Given the description of an element on the screen output the (x, y) to click on. 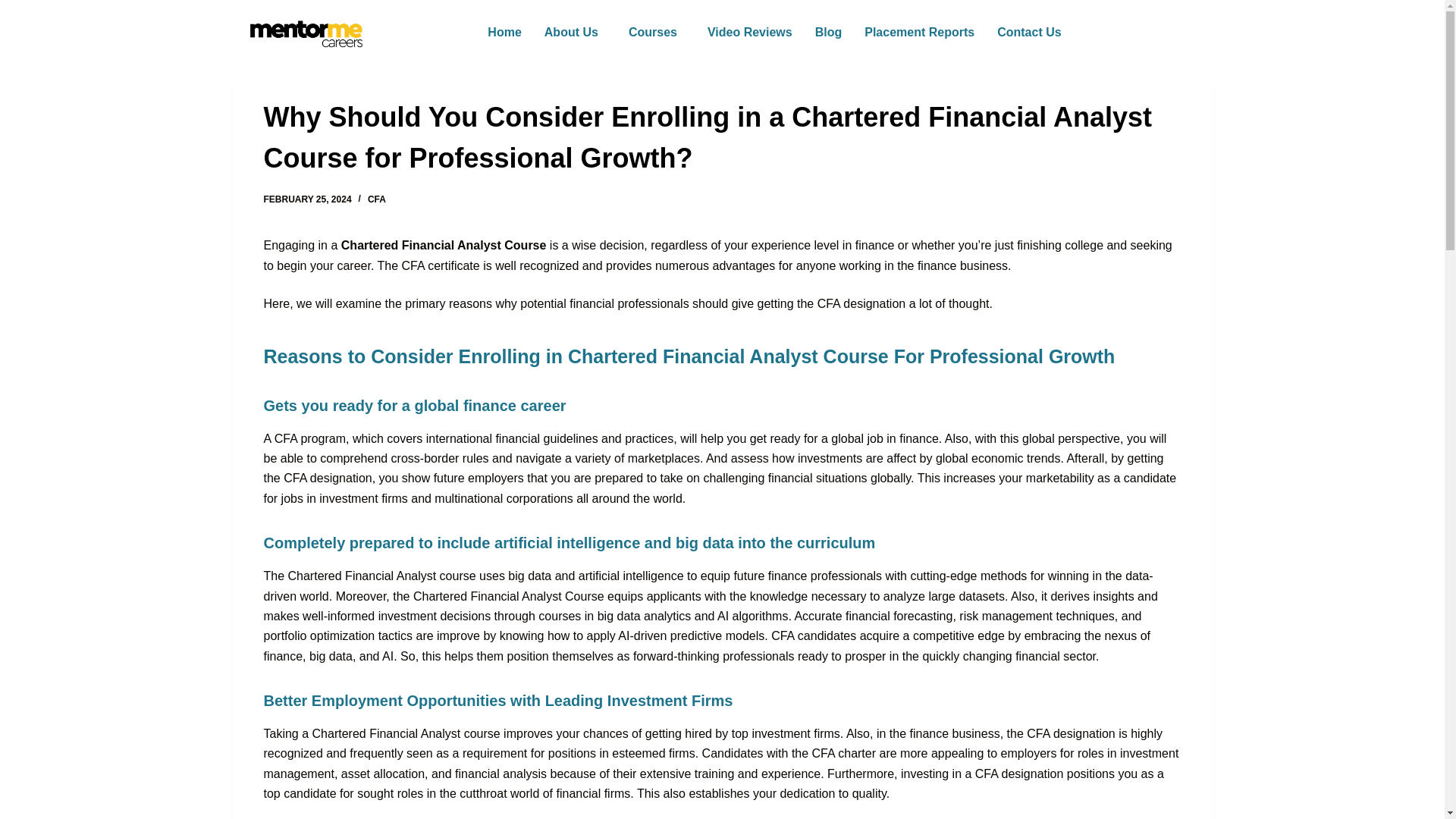
INSTAGRAM (353, 440)
Chartered Financial Analyst Course (443, 245)
CFA (376, 199)
YOUTUBE (435, 440)
About Us (574, 32)
Financial Modeling Course in Mumbai (334, 562)
Placement Reports (919, 32)
Blog (828, 32)
Courses (656, 32)
LINKEDIN (512, 440)
Home (504, 32)
FACEBOOK (267, 440)
Skip to content (15, 7)
Video Reviews (749, 32)
